Given the description of an element on the screen output the (x, y) to click on. 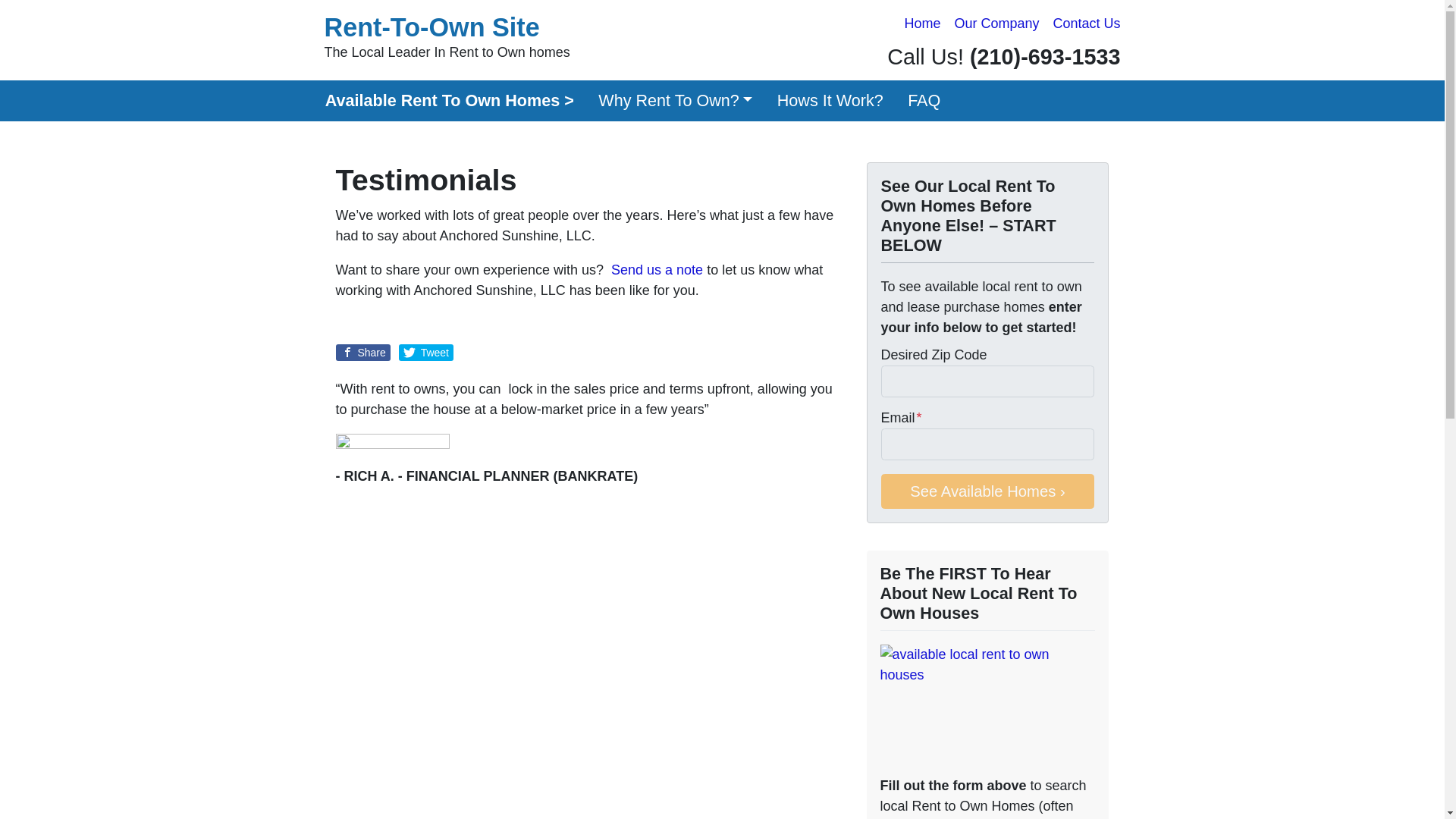
available local rent to own houses (447, 38)
Share (986, 706)
Hows It Work? (362, 352)
Contact Us (830, 100)
Why Rent To Own?  (1085, 23)
Our Company (675, 100)
Share on Facebook (996, 23)
Why Rent To Own? (362, 352)
Send us a note (675, 100)
